Given the description of an element on the screen output the (x, y) to click on. 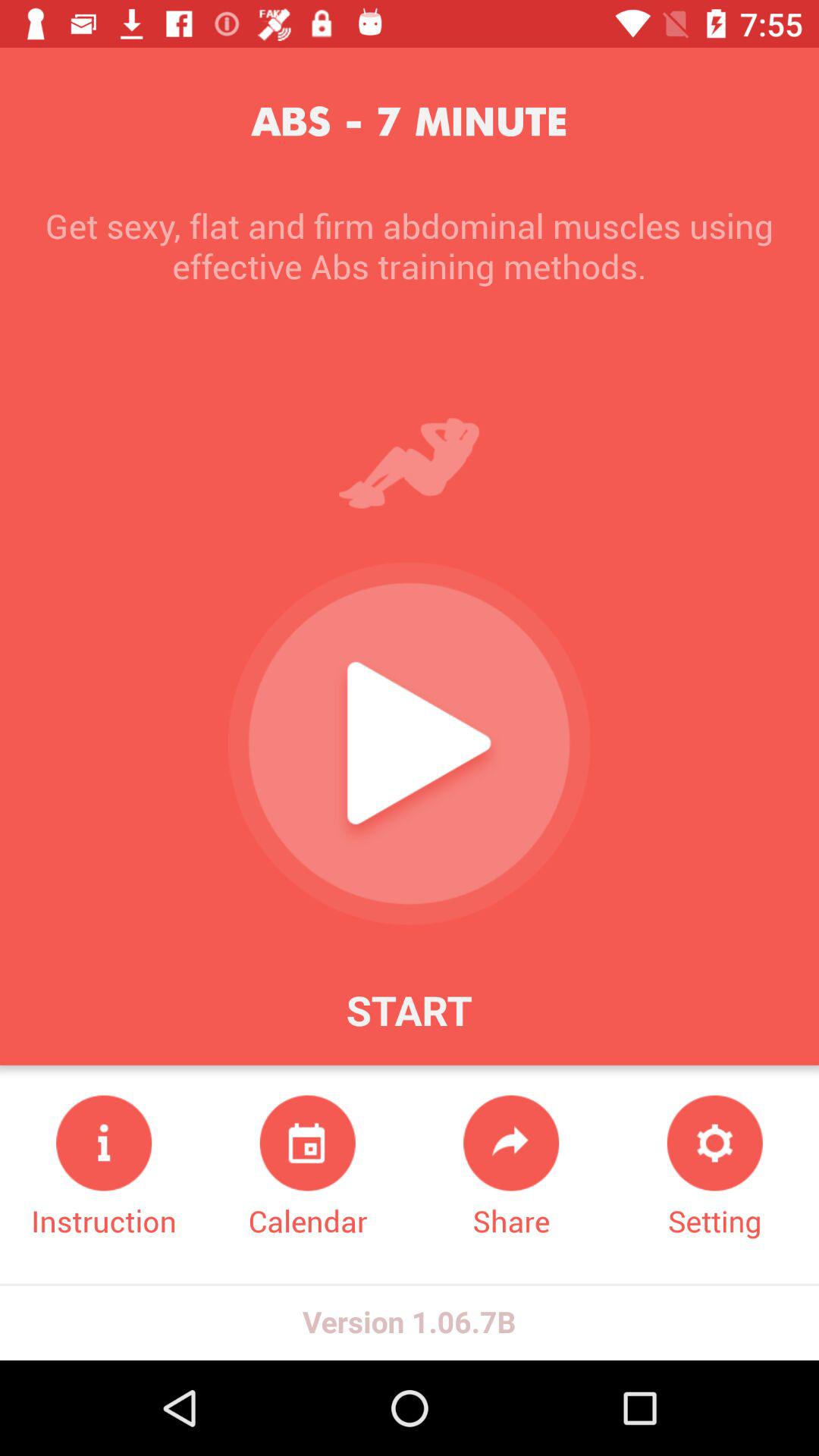
play (409, 743)
